Given the description of an element on the screen output the (x, y) to click on. 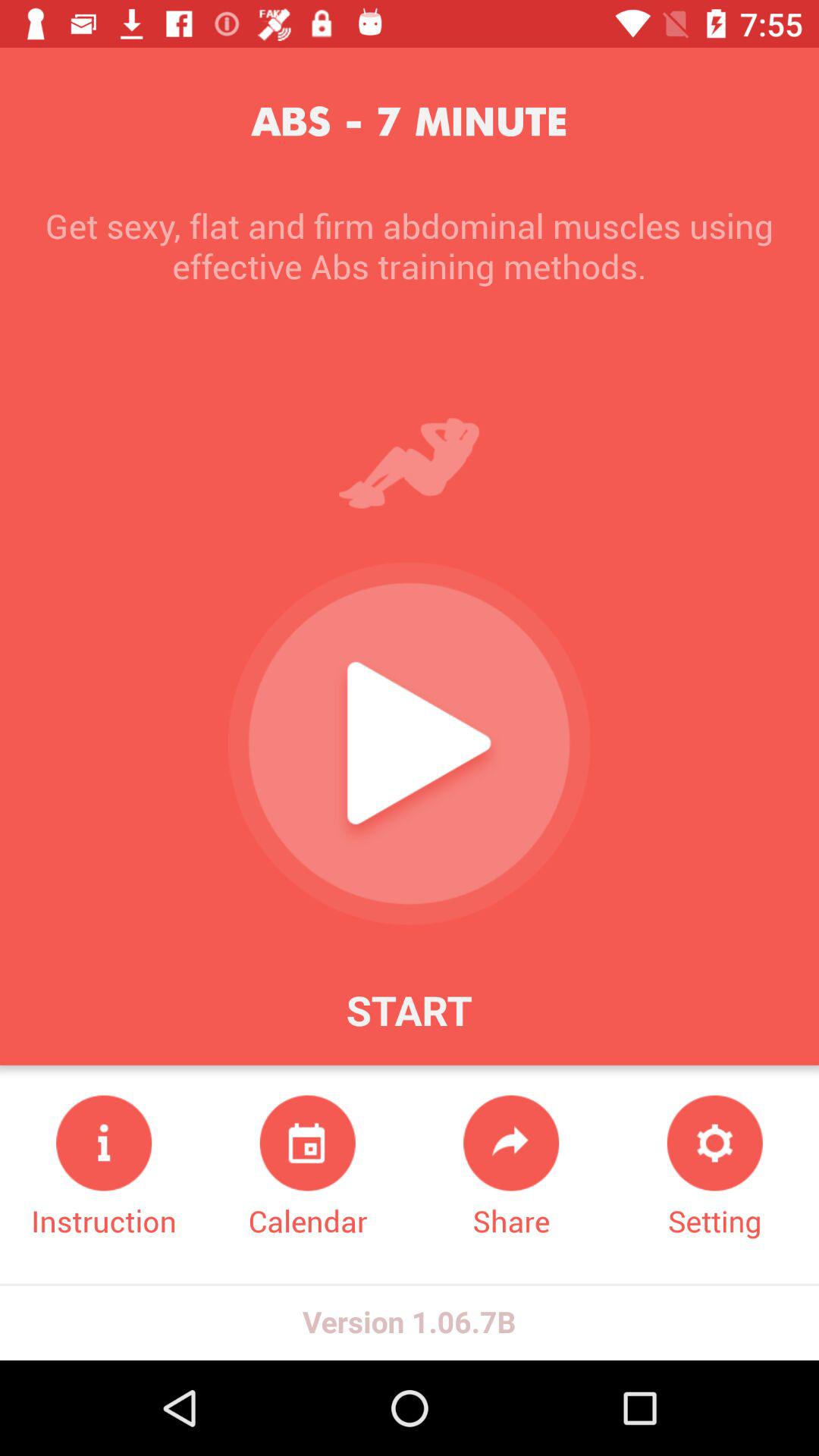
play (409, 743)
